Given the description of an element on the screen output the (x, y) to click on. 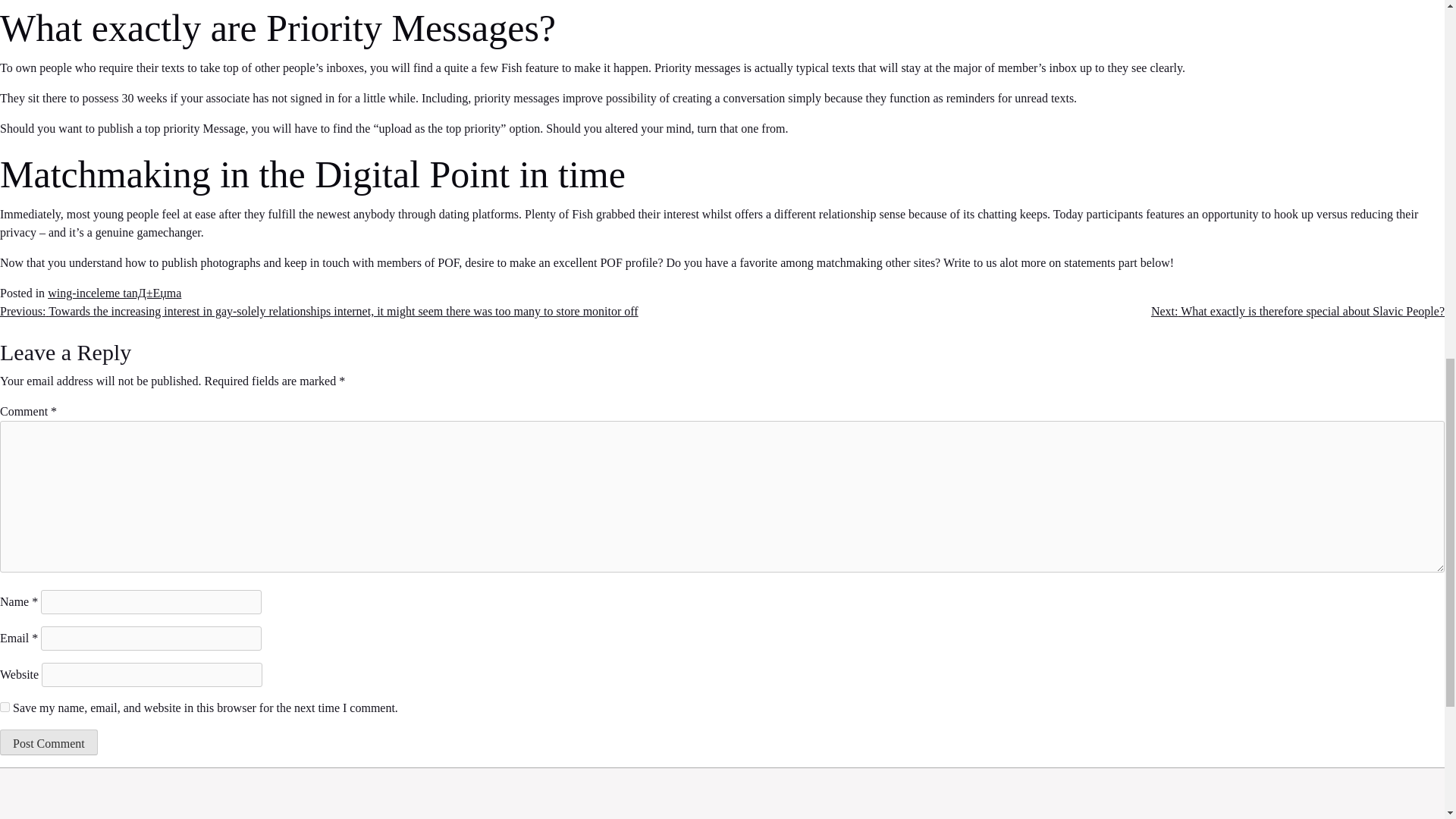
Post Comment (48, 742)
yes (5, 706)
Post Comment (48, 742)
